Given the description of an element on the screen output the (x, y) to click on. 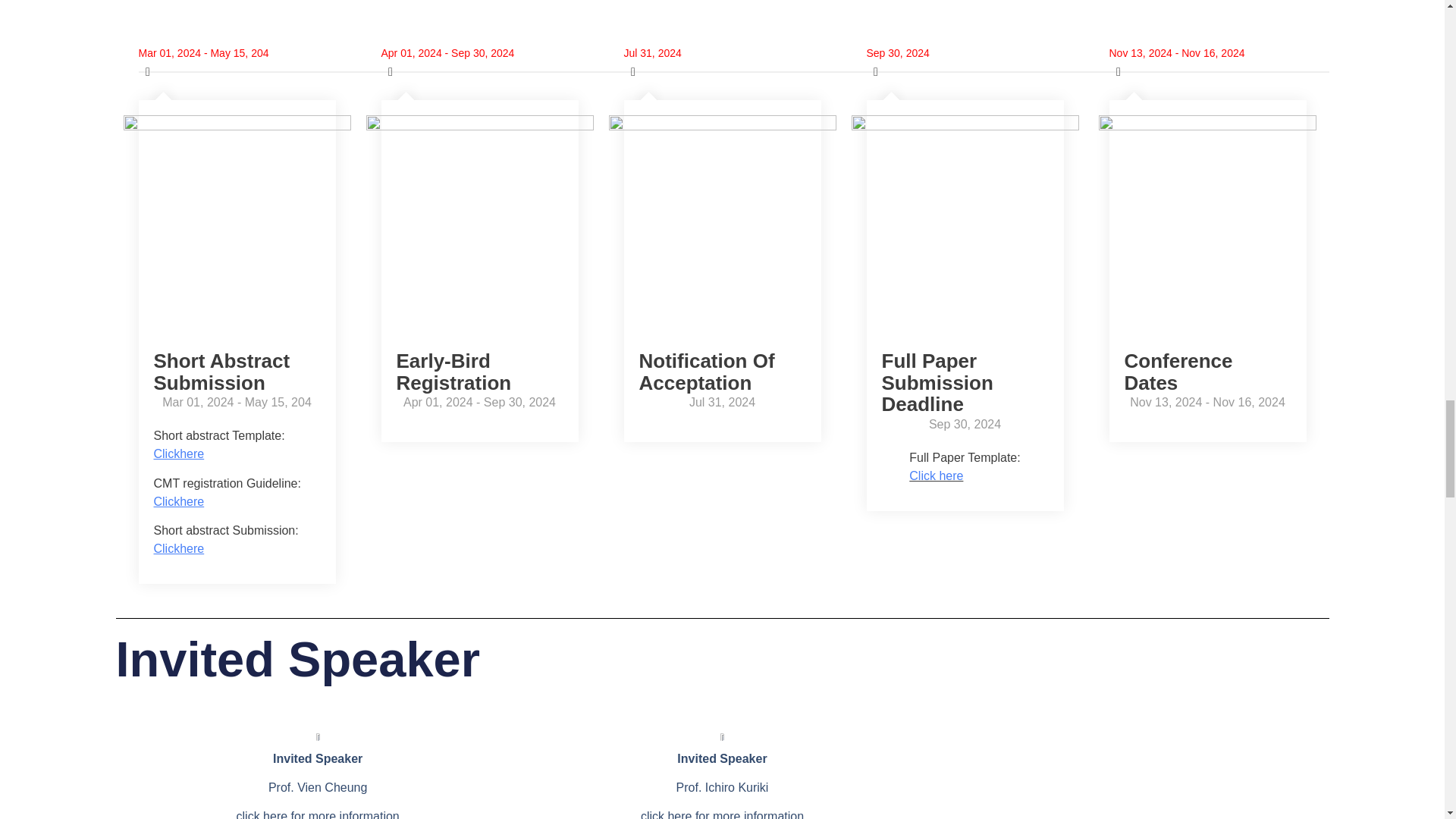
Clickhere (177, 453)
Click here (935, 475)
Clickhere (177, 548)
Clickhere (177, 501)
